Given the description of an element on the screen output the (x, y) to click on. 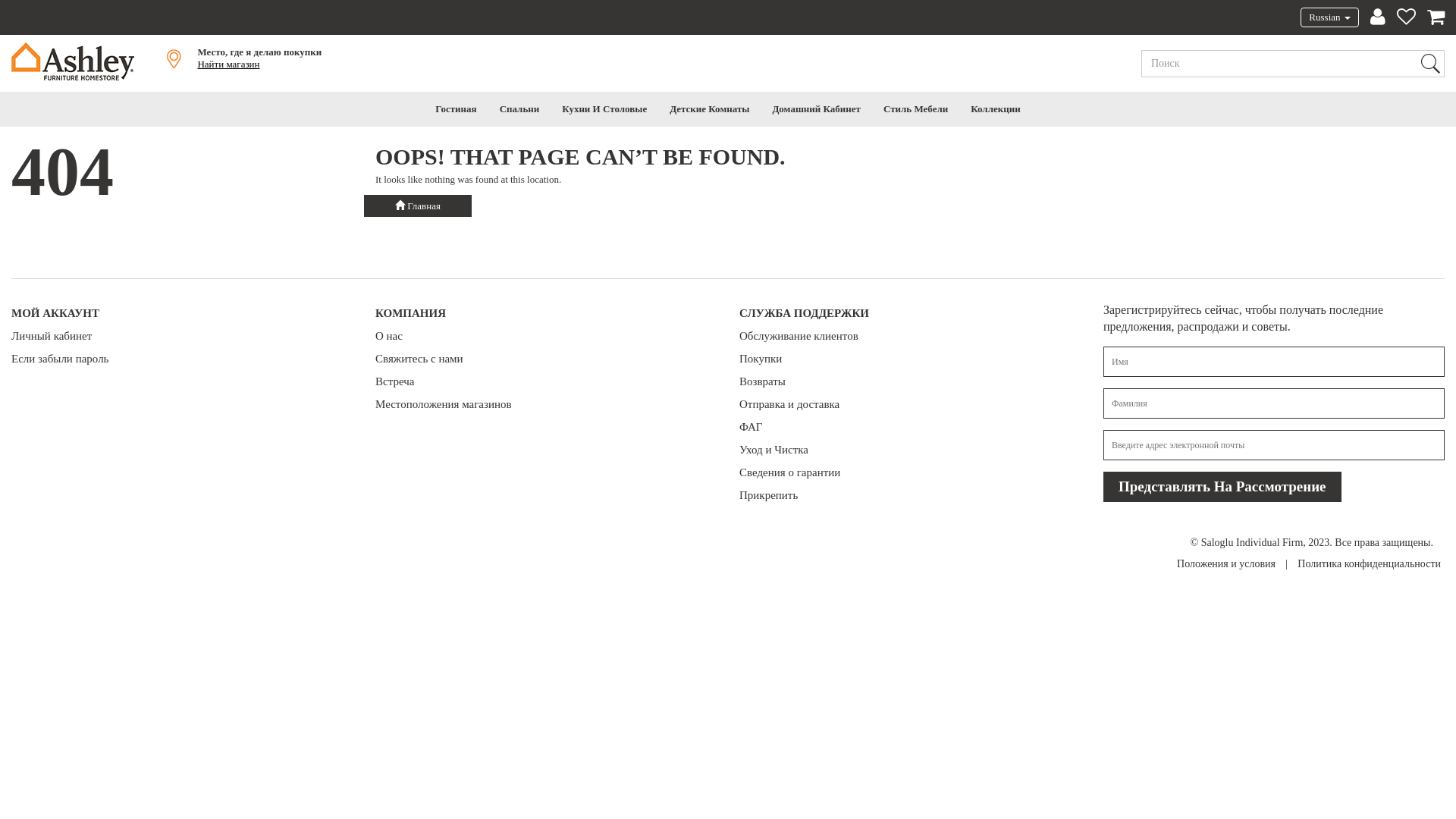
Russian Element type: text (1329, 17)
Search Element type: text (1430, 63)
Click Here Element type: text (13, 18)
